Given the description of an element on the screen output the (x, y) to click on. 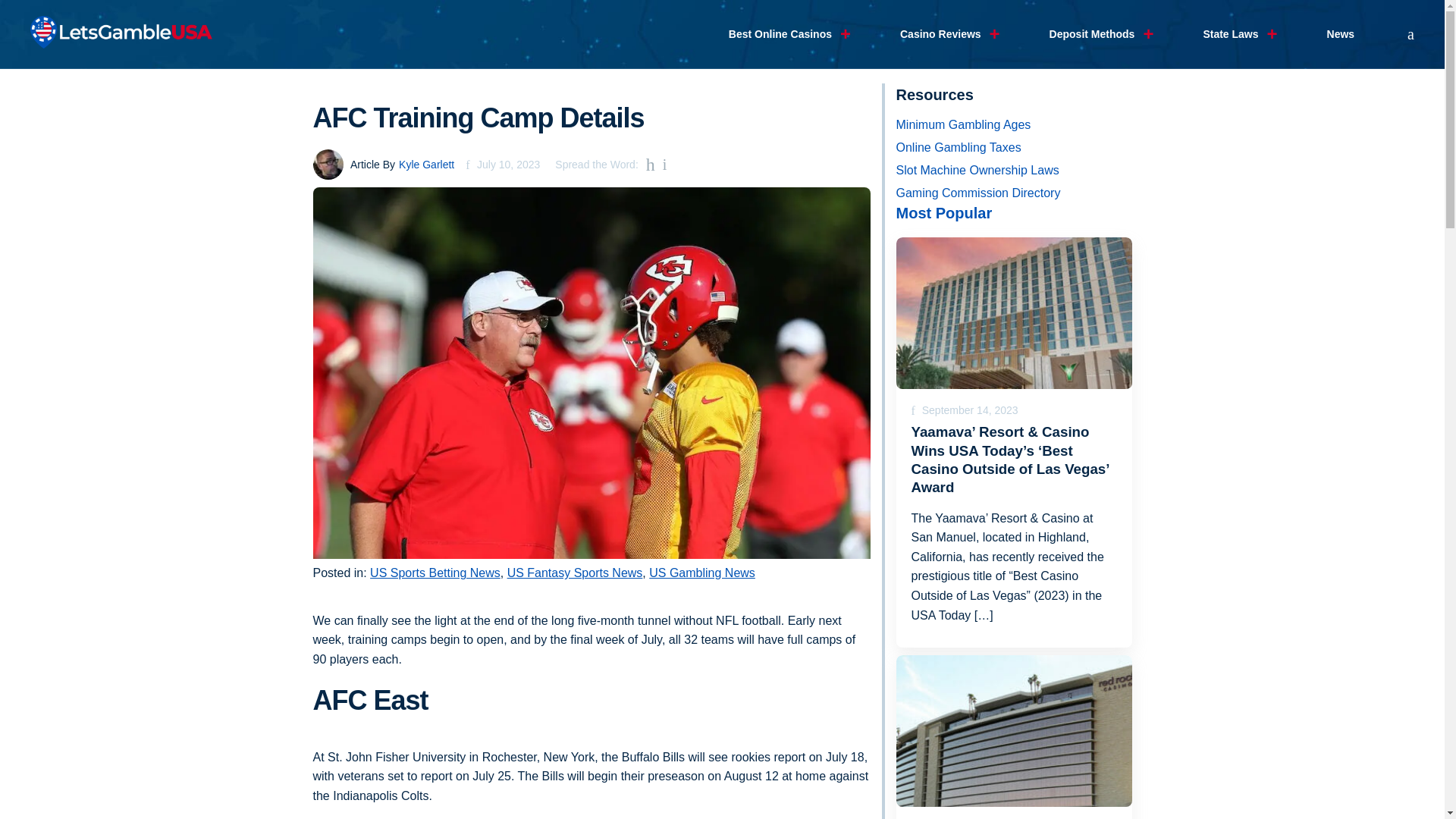
US Fantasy Sports News (574, 572)
Best Online Casinos (780, 34)
Minimum Gambling Ages (1014, 124)
Article ByKyle Garlett (383, 164)
News (1340, 34)
US Gambling News (702, 572)
Casino Reviews (940, 34)
Deposit Methods (1091, 34)
State Laws (1230, 34)
US Sports Betting News (434, 572)
